Given the description of an element on the screen output the (x, y) to click on. 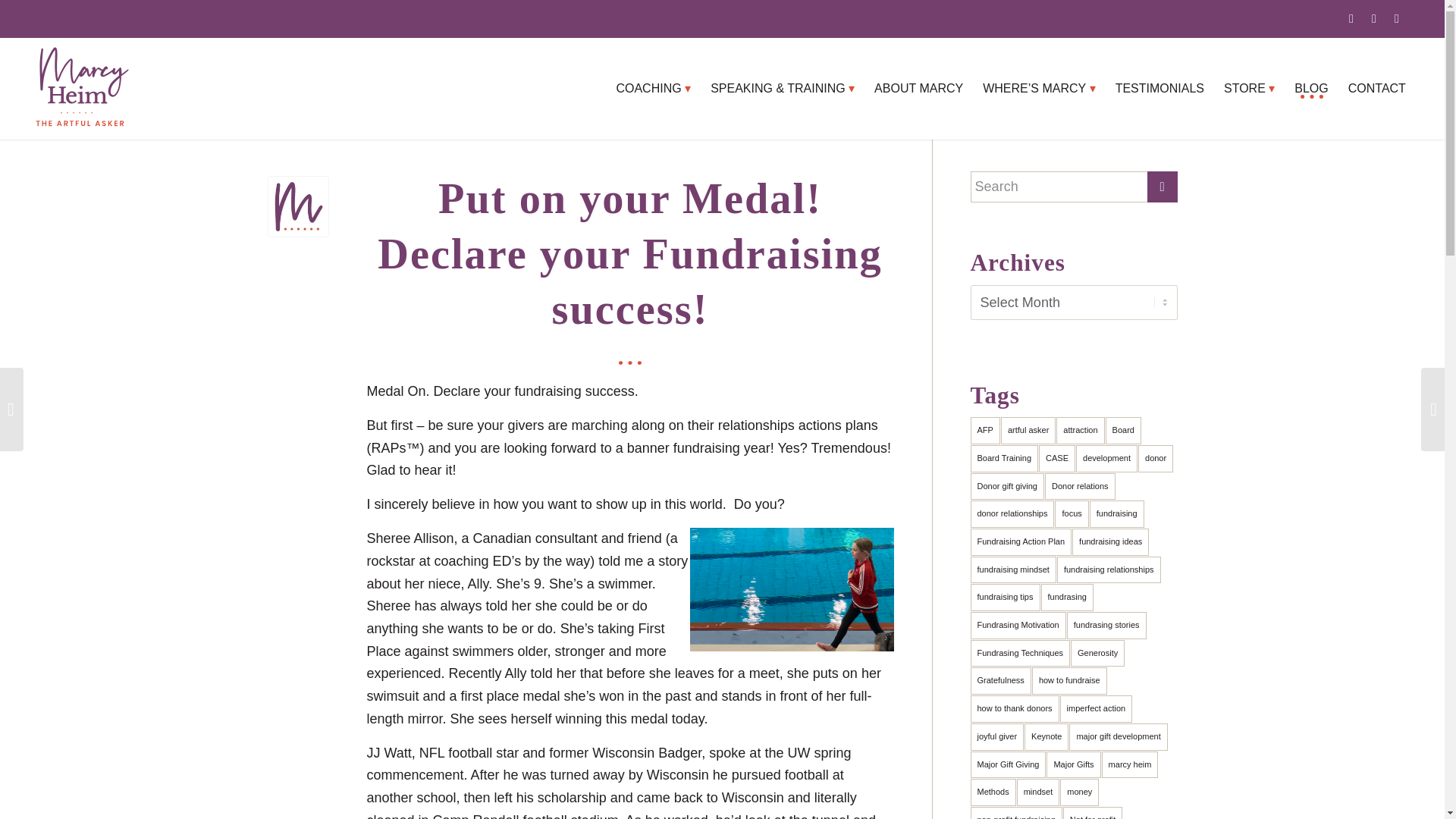
Board (1123, 430)
Marcy Heim logo (81, 87)
Facebook (1396, 18)
Nonprofit and Personal Coaching Services (652, 87)
artful asker (1028, 430)
LinkedIn (1374, 18)
TESTIMONIALS (1159, 87)
Instagram (1350, 18)
Board Training (1005, 458)
attraction (1080, 430)
